Given the description of an element on the screen output the (x, y) to click on. 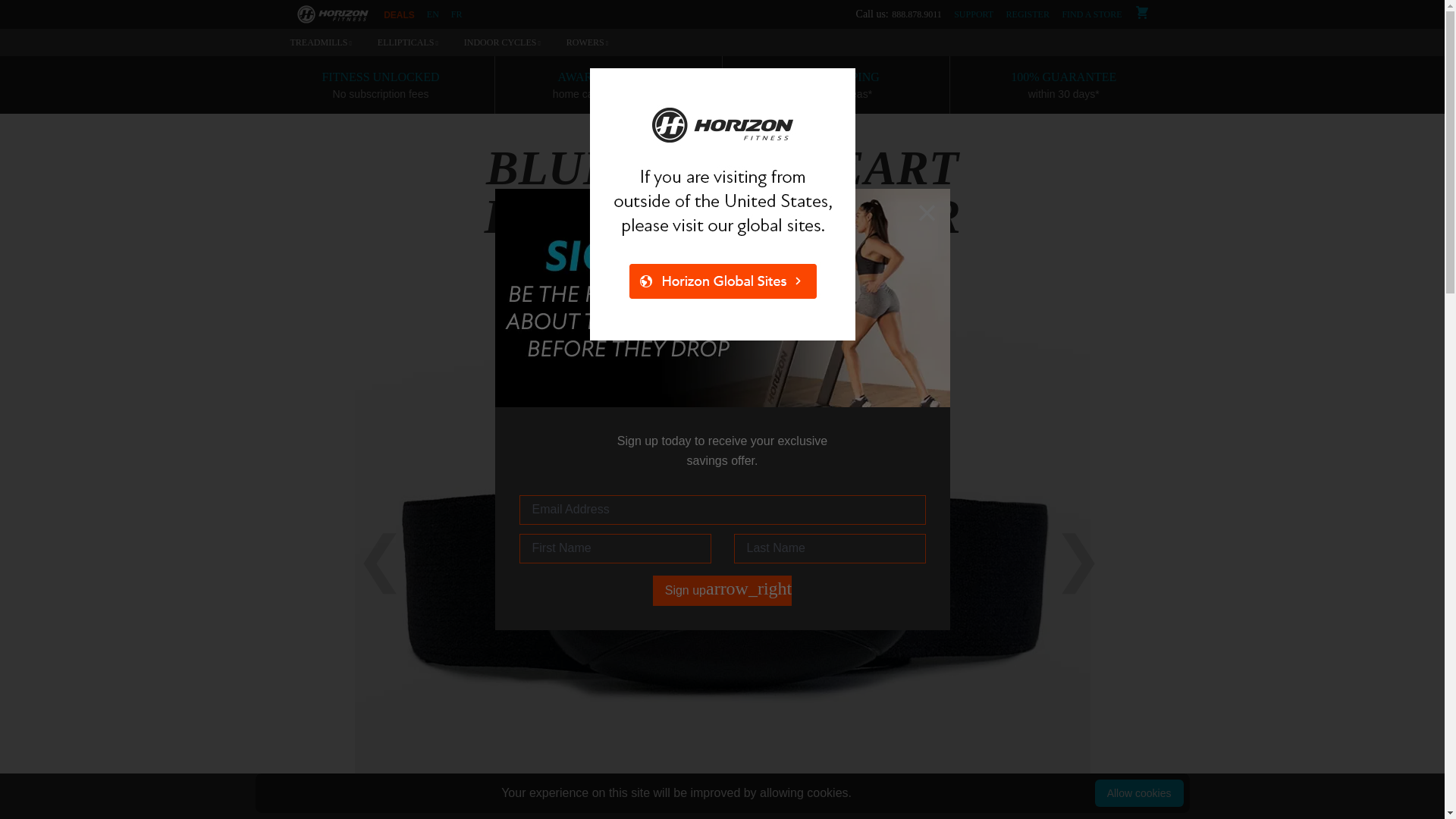
Cart (1146, 13)
FR (456, 14)
EN (426, 14)
REGISTER (1032, 14)
DEALS (399, 15)
FIND A STORE (1096, 14)
SUPPORT (978, 14)
